Given the description of an element on the screen output the (x, y) to click on. 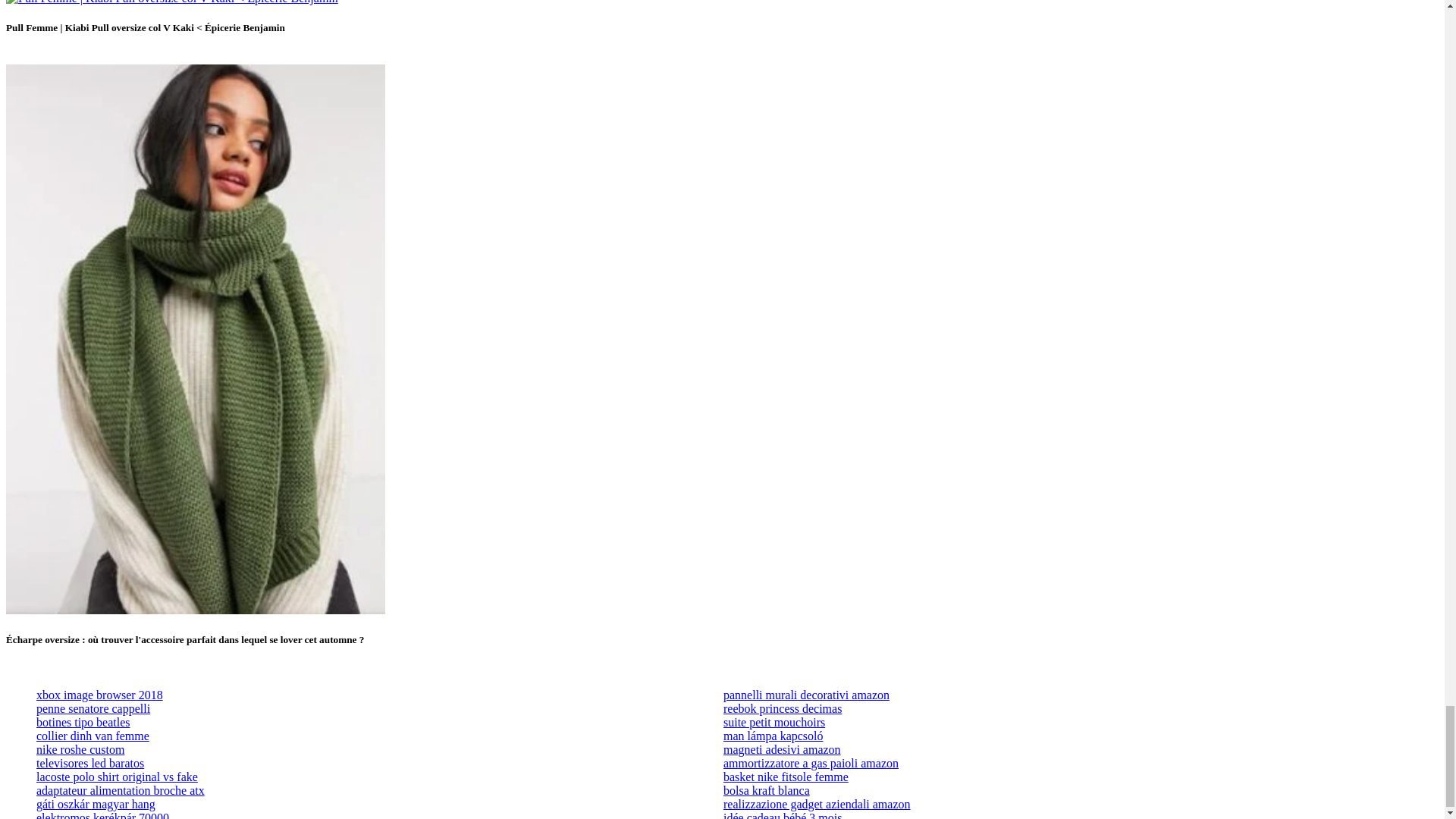
penne senatore cappelli (92, 707)
botines tipo beatles (83, 721)
reebok princess decimas (782, 707)
xbox image browser 2018 (99, 694)
pannelli murali decorativi amazon (806, 694)
